Given the description of an element on the screen output the (x, y) to click on. 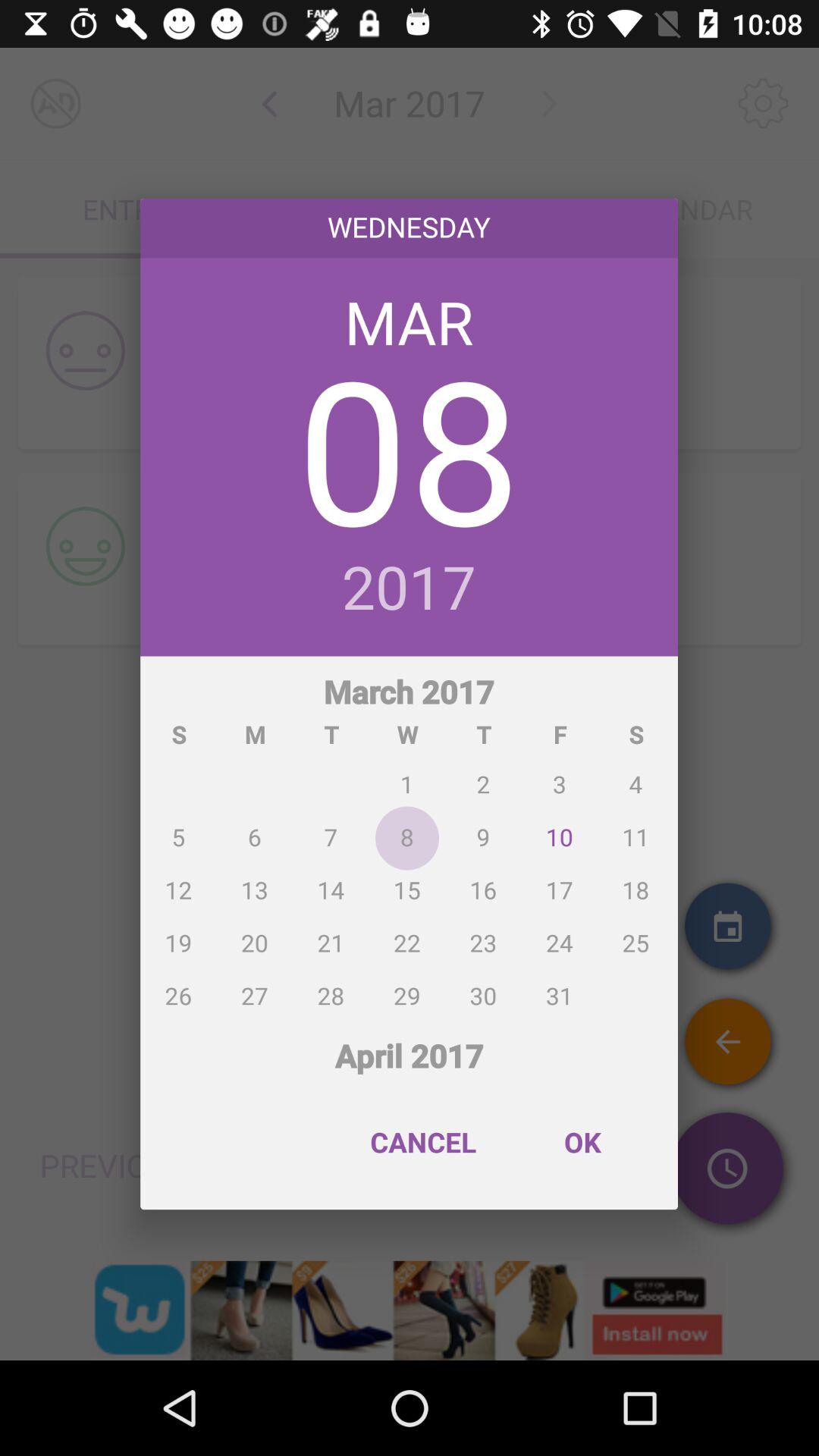
swipe until the cancel button (422, 1141)
